Given the description of an element on the screen output the (x, y) to click on. 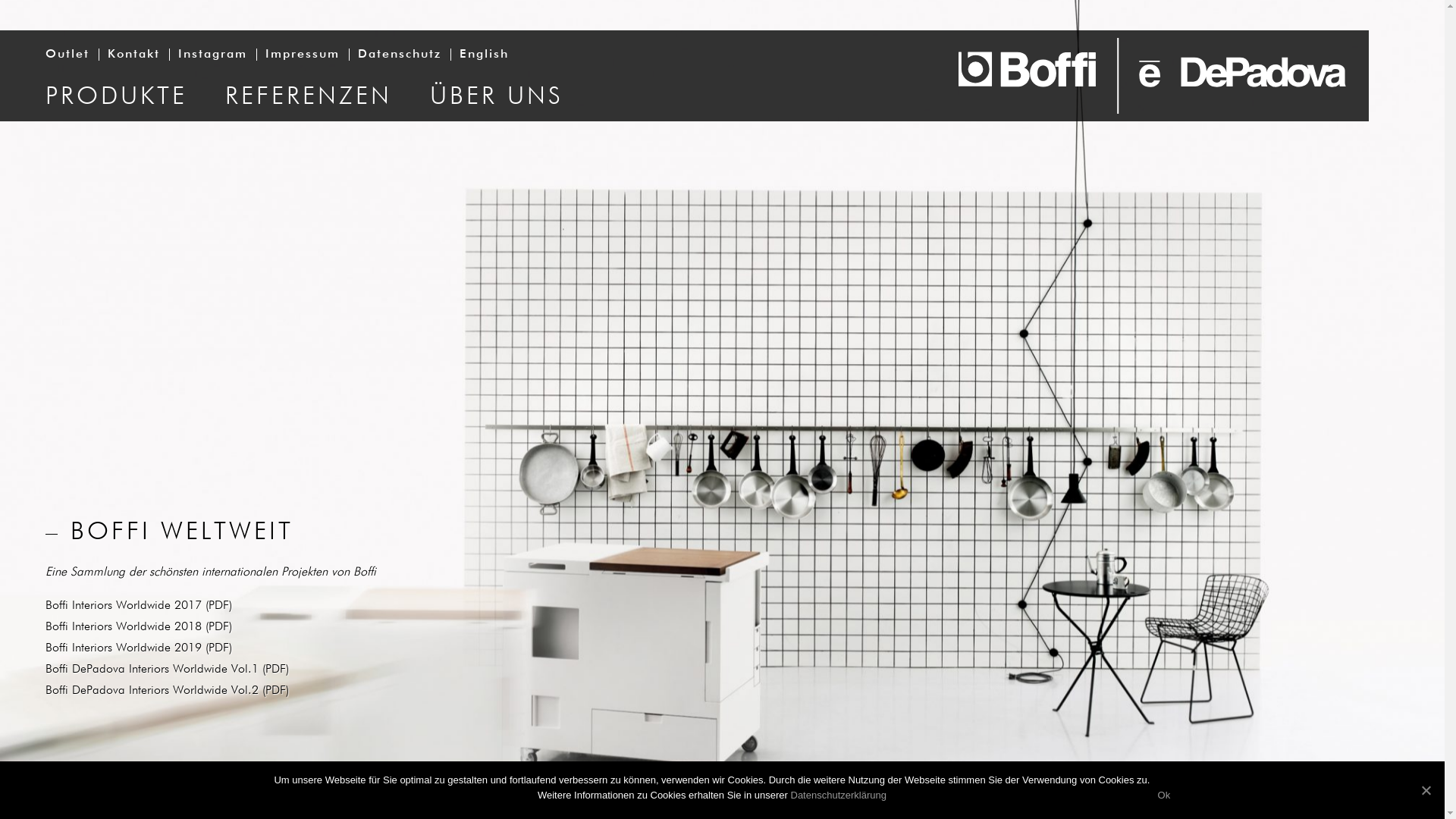
Outlet Element type: text (67, 54)
Impressum Element type: text (302, 54)
English Element type: text (483, 54)
Boffi DePadova Interiors Worldwide Vol.2 (PDF) Element type: text (166, 690)
Boffi DePadova Interiors Worldwide Vol.1 (PDF) Element type: text (166, 669)
Boffi Interiors Worldwide 2018 (PDF) Element type: text (138, 627)
Datenschutz Element type: text (399, 54)
Kontakt Element type: text (133, 54)
Boffi Interiors Worldwide 2017 (PDF) Element type: text (138, 605)
REFERENZEN Element type: text (308, 95)
Instagram Element type: text (212, 54)
PRODUKTE Element type: text (116, 95)
Boffi Interiors Worldwide 2019 (PDF) Element type: text (138, 648)
Ok Element type: text (1163, 795)
